Given the description of an element on the screen output the (x, y) to click on. 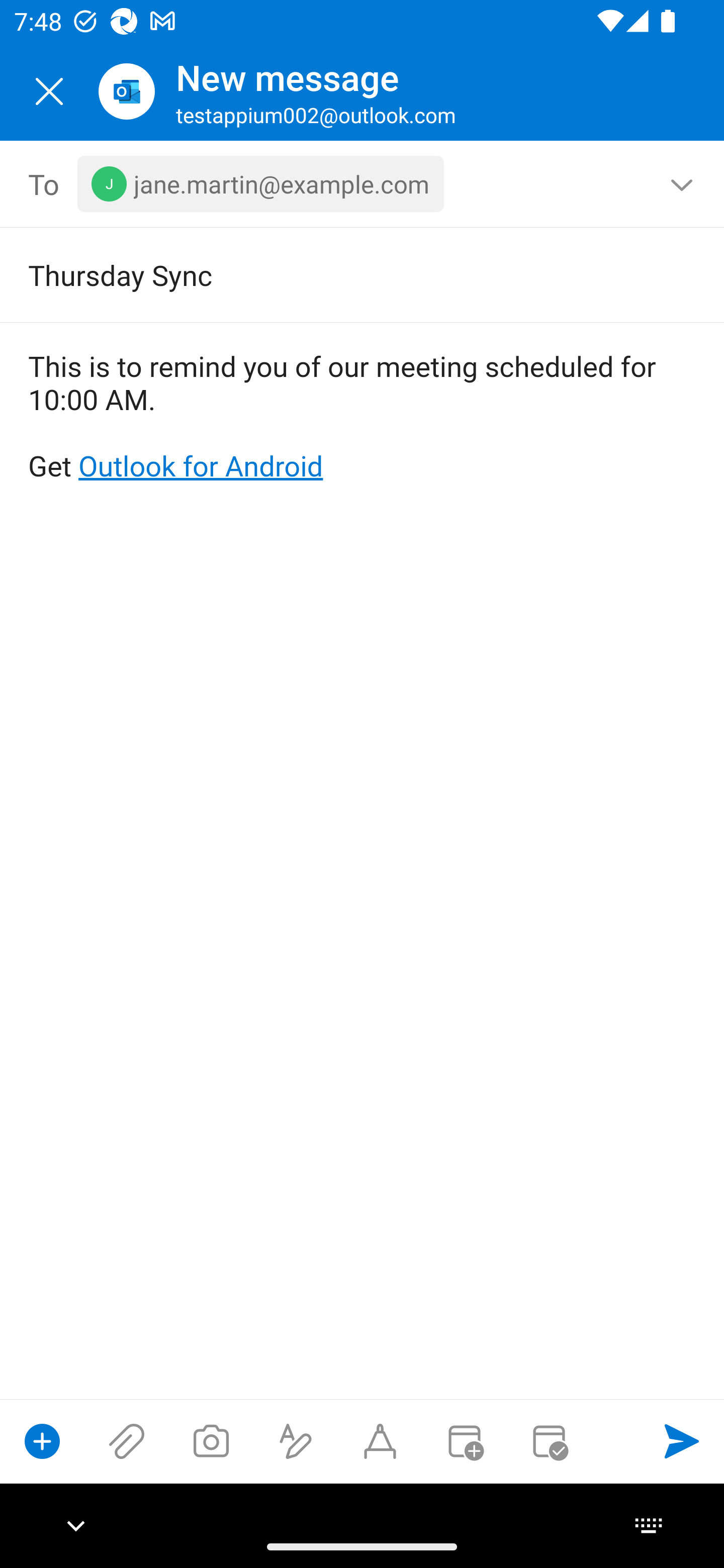
Close (49, 91)
To, 1 recipient <jane.martin@example.com> (362, 184)
Thursday Sync (333, 274)
Show compose options (42, 1440)
Attach files (126, 1440)
Take a photo (210, 1440)
Show formatting options (295, 1440)
Start Ink compose (380, 1440)
Convert to event (464, 1440)
Send availability (548, 1440)
Send (681, 1440)
